Given the description of an element on the screen output the (x, y) to click on. 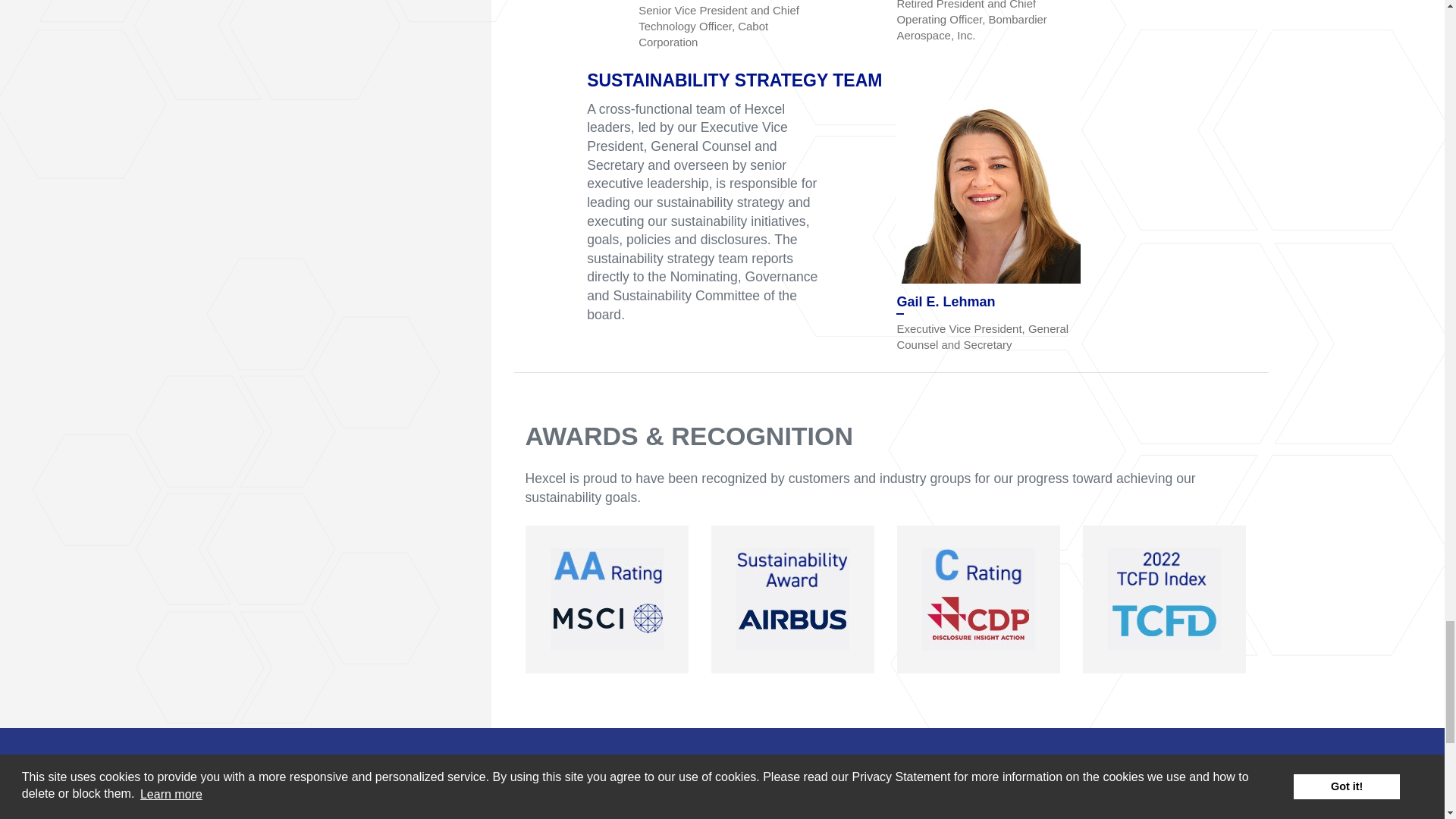
Gail E. Lehman (988, 191)
MSCI (606, 598)
